Given the description of an element on the screen output the (x, y) to click on. 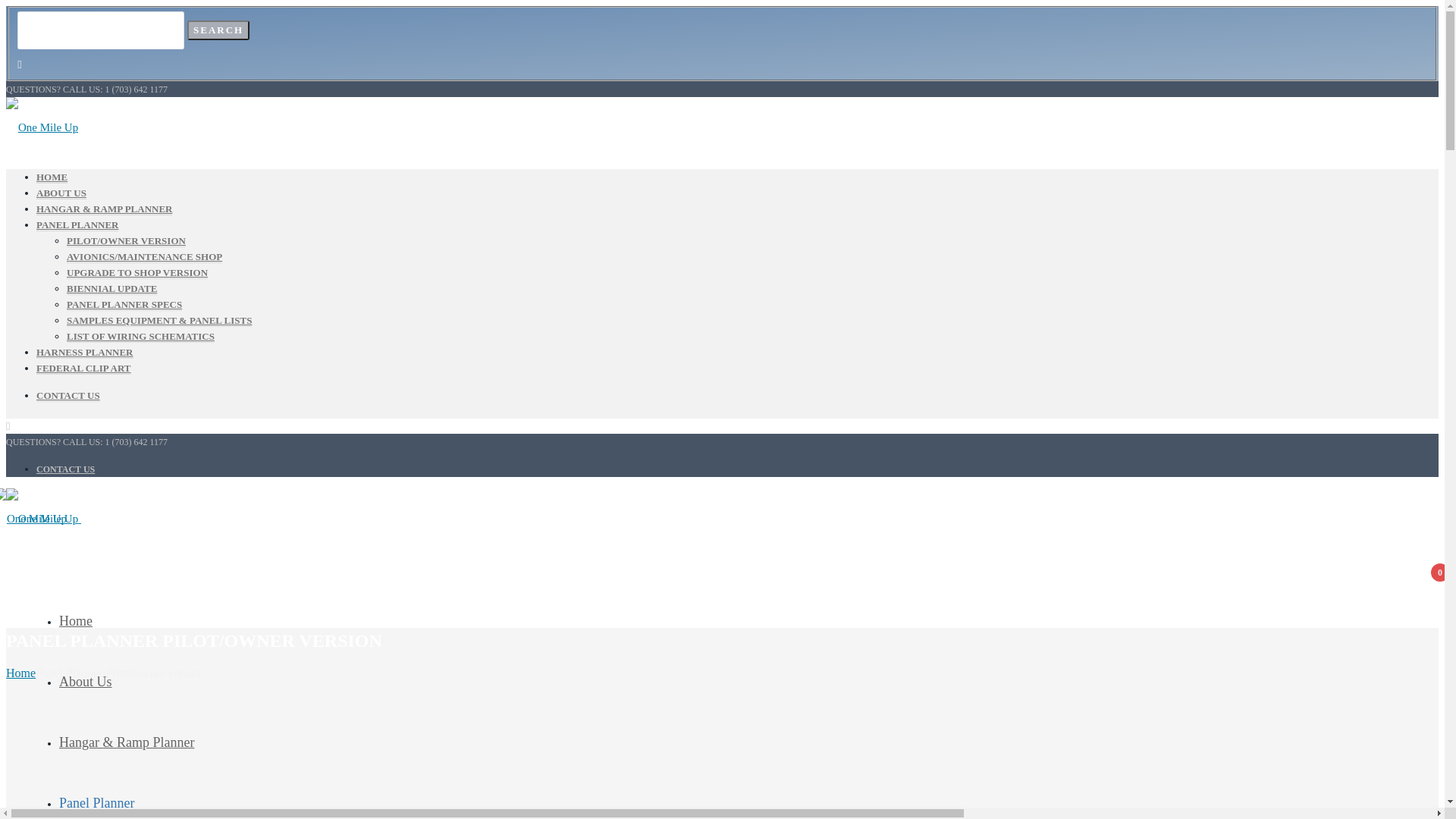
HANGAR & RAMP PLANNER Element type: text (104, 209)
One Mile Up Element type: hover (42, 127)
Search Element type: text (218, 30)
BIENNIAL UPDATE Element type: text (111, 288)
FEDERAL CLIP ART Element type: text (83, 368)
Panel Planner Element type: text (96, 802)
CONTACT US Element type: text (65, 469)
CONTACT US Element type: text (68, 395)
PANEL PLANNER SPECS Element type: text (124, 304)
HARNESS PLANNER Element type: text (84, 352)
About Us Element type: text (85, 681)
Hangar & Ramp Planner Element type: text (126, 741)
PANEL PLANNER Element type: text (77, 225)
Home Element type: text (75, 620)
ABOUT US Element type: text (61, 193)
UPGRADE TO SHOP VERSION Element type: text (136, 272)
PILOT/OWNER VERSION Element type: text (125, 241)
HOME Element type: text (51, 177)
AVIONICS/MAINTENANCE SHOP Element type: text (144, 257)
One Mile Up Element type: hover (36, 518)
Home Element type: text (20, 672)
SAMPLES EQUIPMENT & PANEL LISTS Element type: text (158, 320)
LIST OF WIRING SCHEMATICS Element type: text (140, 336)
